Given the description of an element on the screen output the (x, y) to click on. 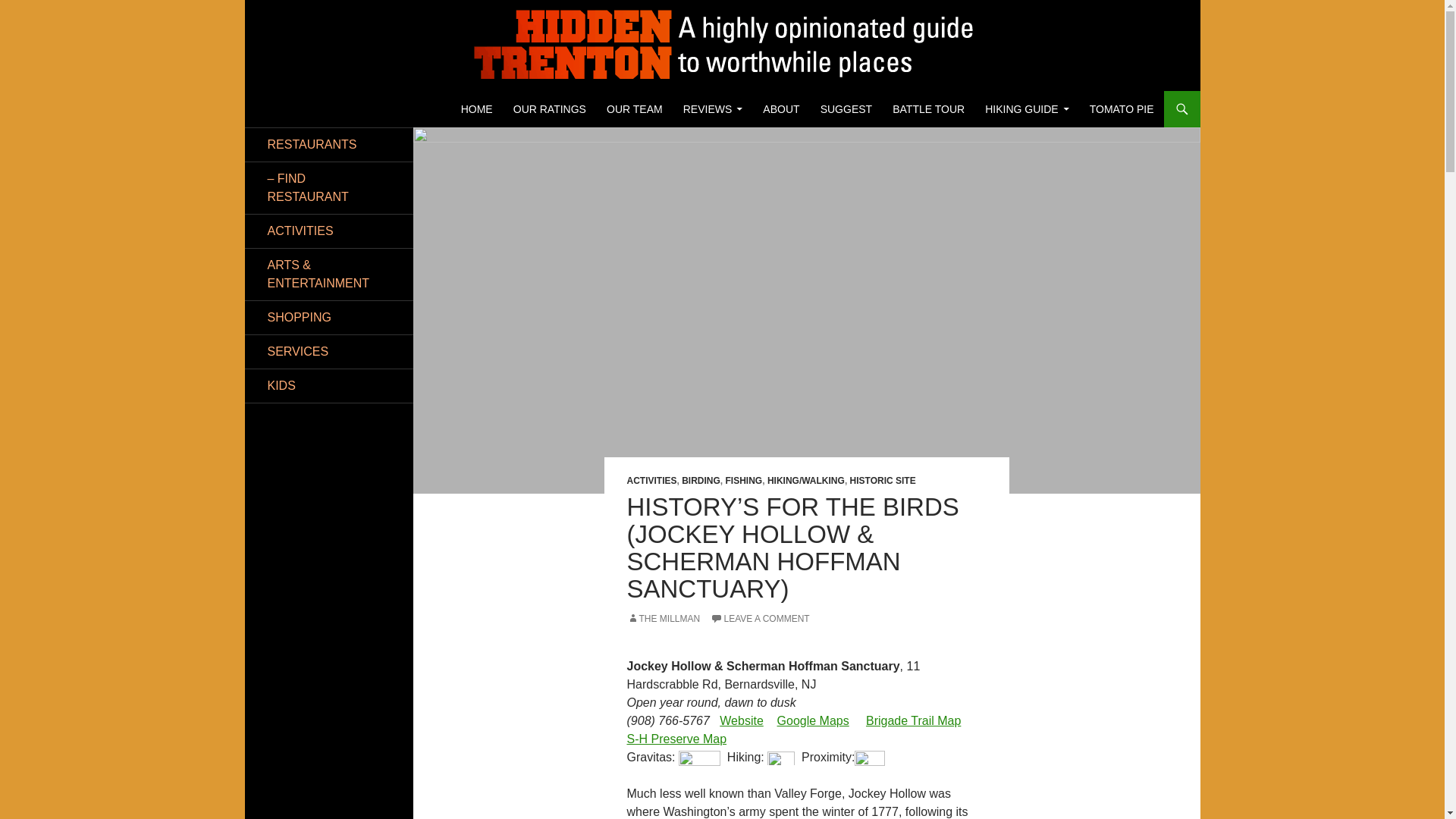
FISHING (743, 480)
HOME (476, 108)
SUGGEST (845, 108)
OUR RATINGS (549, 108)
A highly opinionate guide to worthwhile places (476, 108)
LEAVE A COMMENT (759, 618)
REVIEWS (713, 108)
HISTORIC SITE (882, 480)
